Given the description of an element on the screen output the (x, y) to click on. 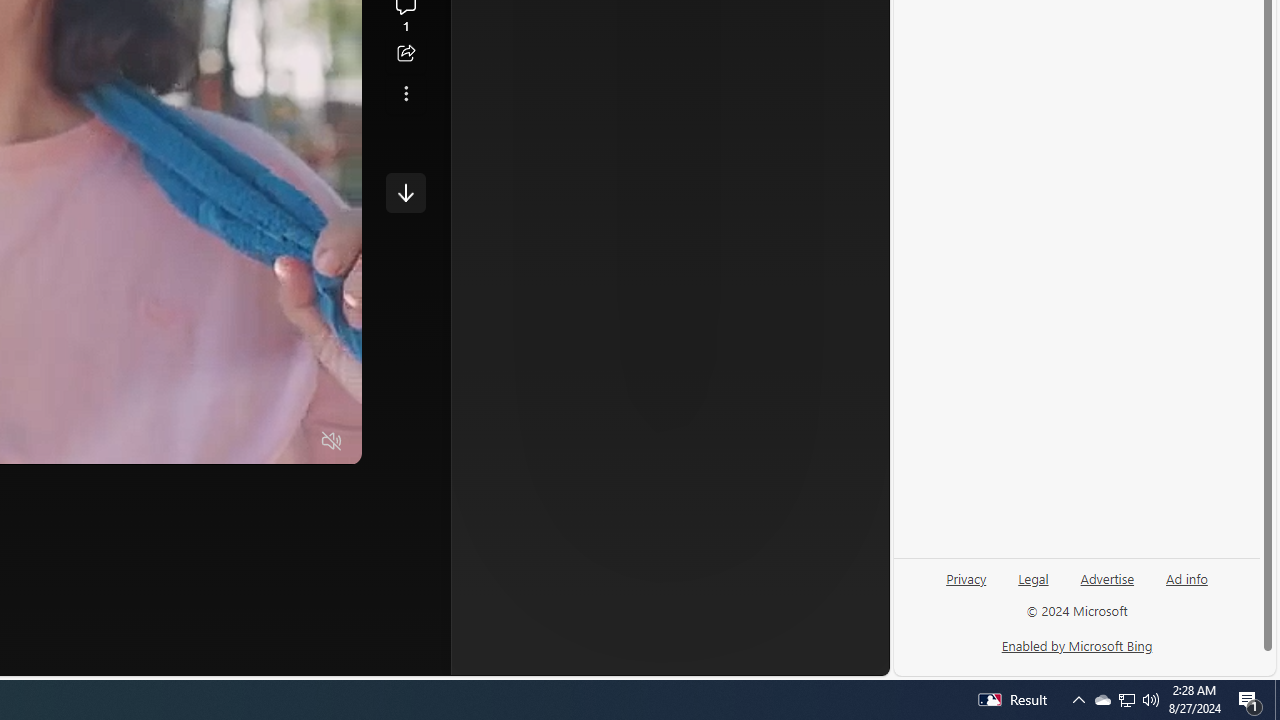
Class: control (406, 192)
Class: at-item detail-page (406, 93)
Quality Settings (214, 442)
ABC News (584, 12)
AutomationID: e5rZOEMGacU1 (406, 192)
Try personal training with ... (694, 186)
